Given the description of an element on the screen output the (x, y) to click on. 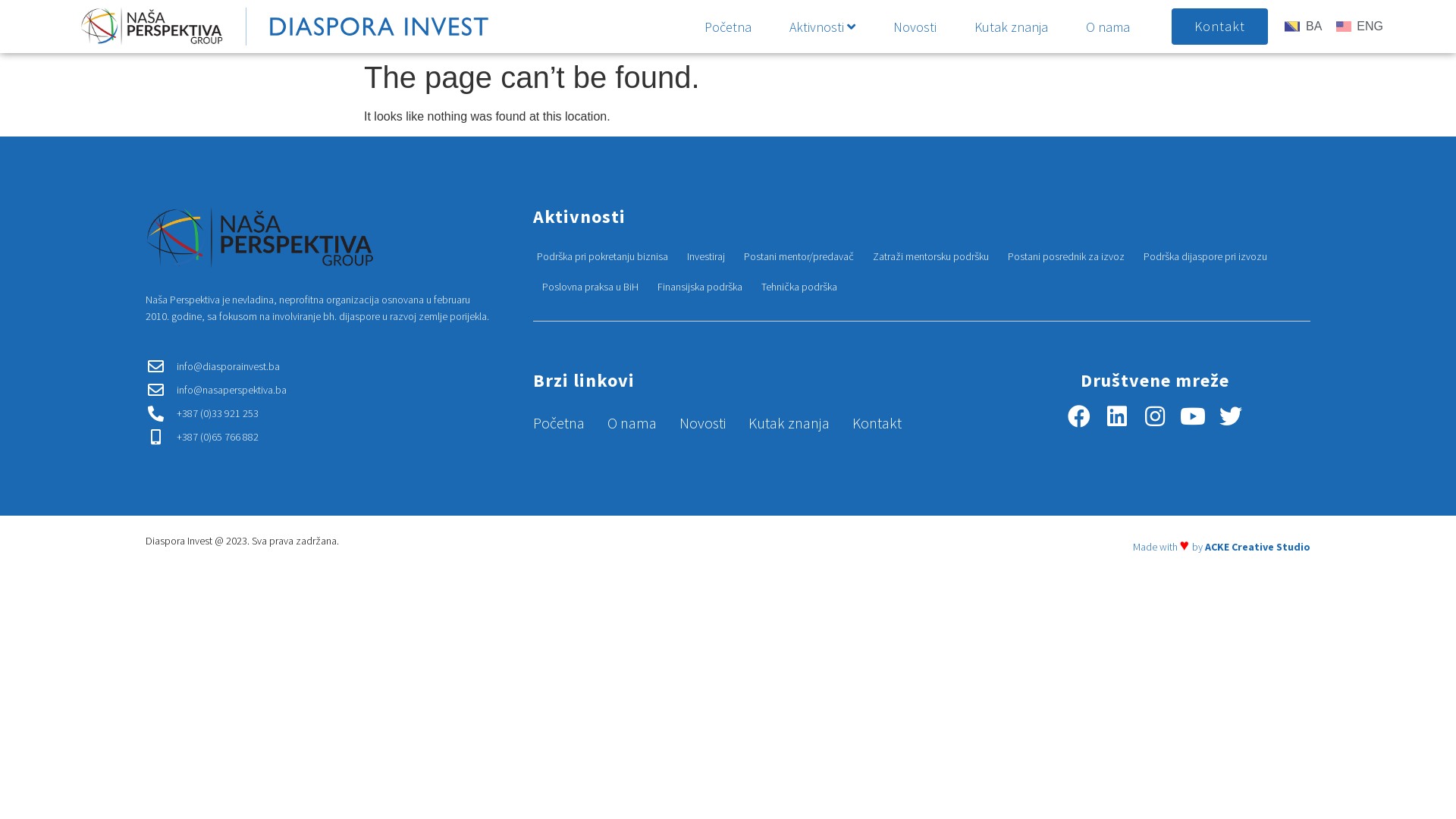
Kontakt Element type: text (876, 422)
O nama Element type: text (1107, 26)
Poslovna praksa u BiH Element type: text (590, 286)
Kutak znanja Element type: text (1010, 26)
Kontakt Element type: text (1219, 26)
Novosti Element type: text (914, 26)
O nama Element type: text (631, 422)
+387 (0)33 921 253 Element type: text (320, 413)
+387 (0)65 766 882 Element type: text (320, 437)
Investiraj Element type: text (705, 256)
Aktivnosti Element type: text (821, 26)
BA Element type: text (1302, 26)
Novosti Element type: text (702, 422)
info@nasaperspektiva.ba Element type: text (320, 390)
Postani posrednik za izvoz Element type: text (1066, 256)
info@diasporainvest.ba Element type: text (320, 366)
Kutak znanja Element type: text (788, 422)
ENG Element type: text (1358, 26)
